Given the description of an element on the screen output the (x, y) to click on. 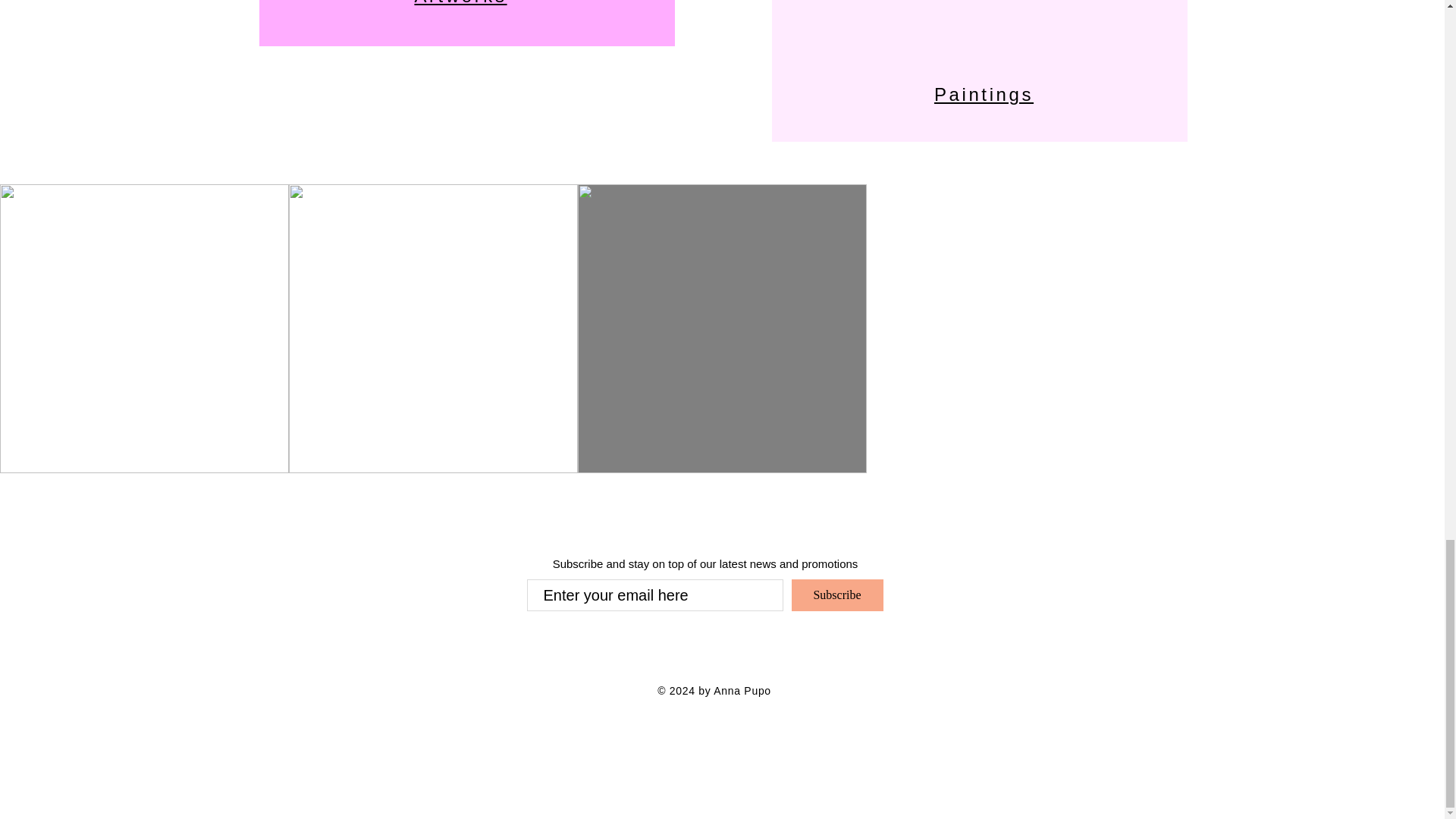
Artworks (459, 2)
Subscribe (837, 594)
Paintings (983, 94)
